Given the description of an element on the screen output the (x, y) to click on. 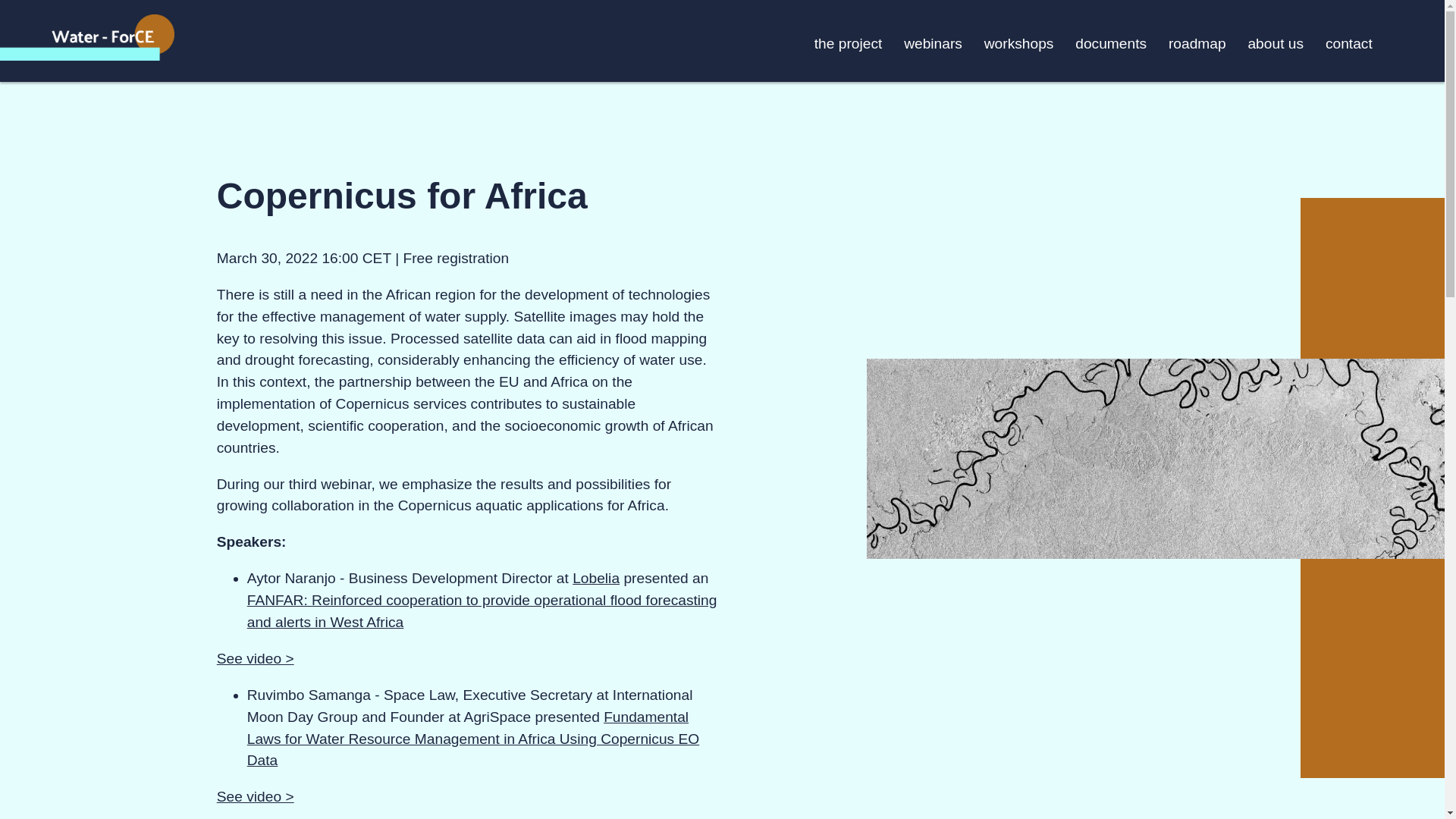
documents (1111, 40)
webinars (933, 40)
about us (1275, 40)
the project (847, 40)
roadmap (1197, 40)
Lobelia (596, 578)
workshops (1019, 40)
contact (1348, 40)
